Given the description of an element on the screen output the (x, y) to click on. 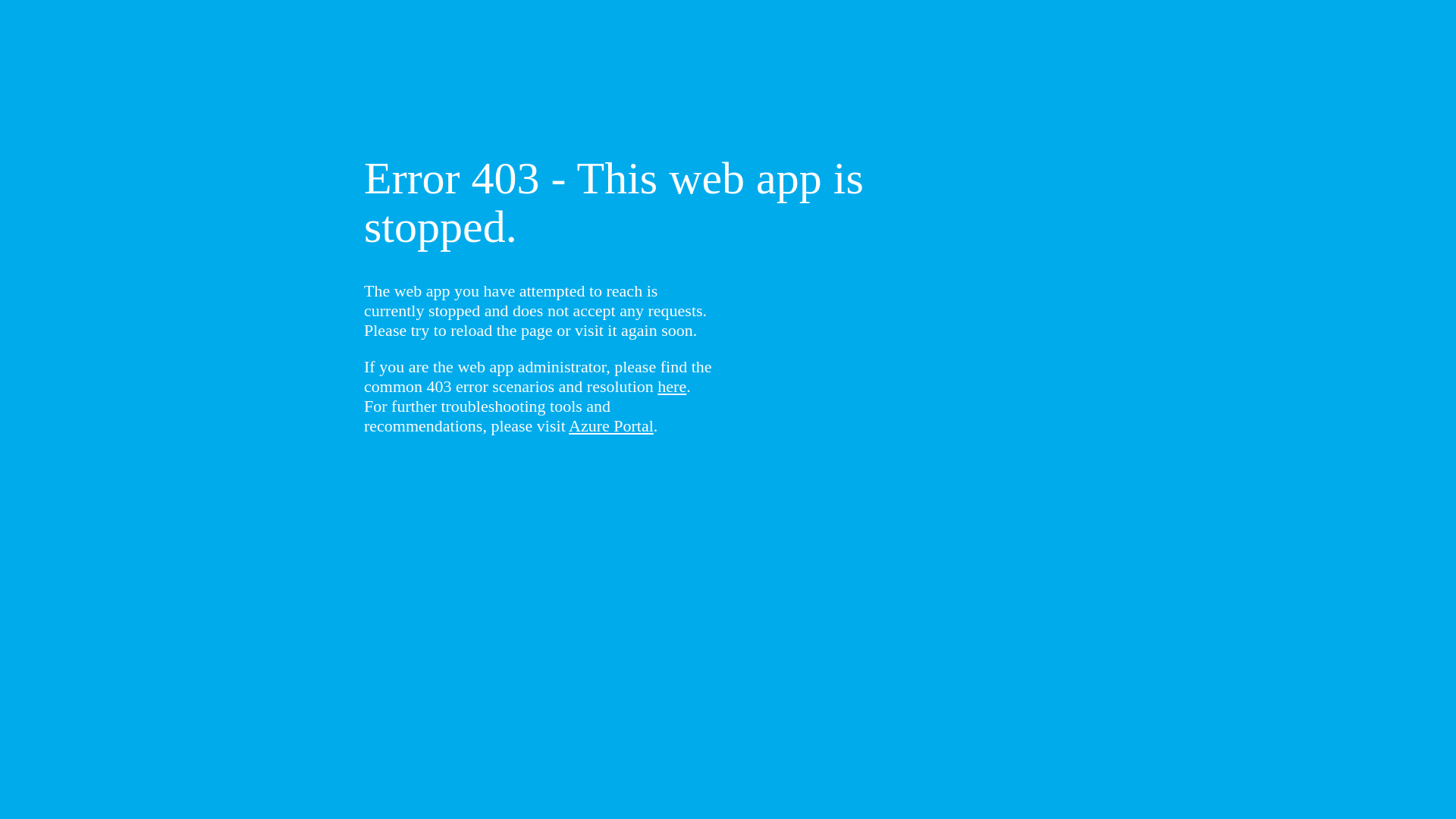
here Element type: text (671, 385)
Azure Portal Element type: text (610, 425)
